Given the description of an element on the screen output the (x, y) to click on. 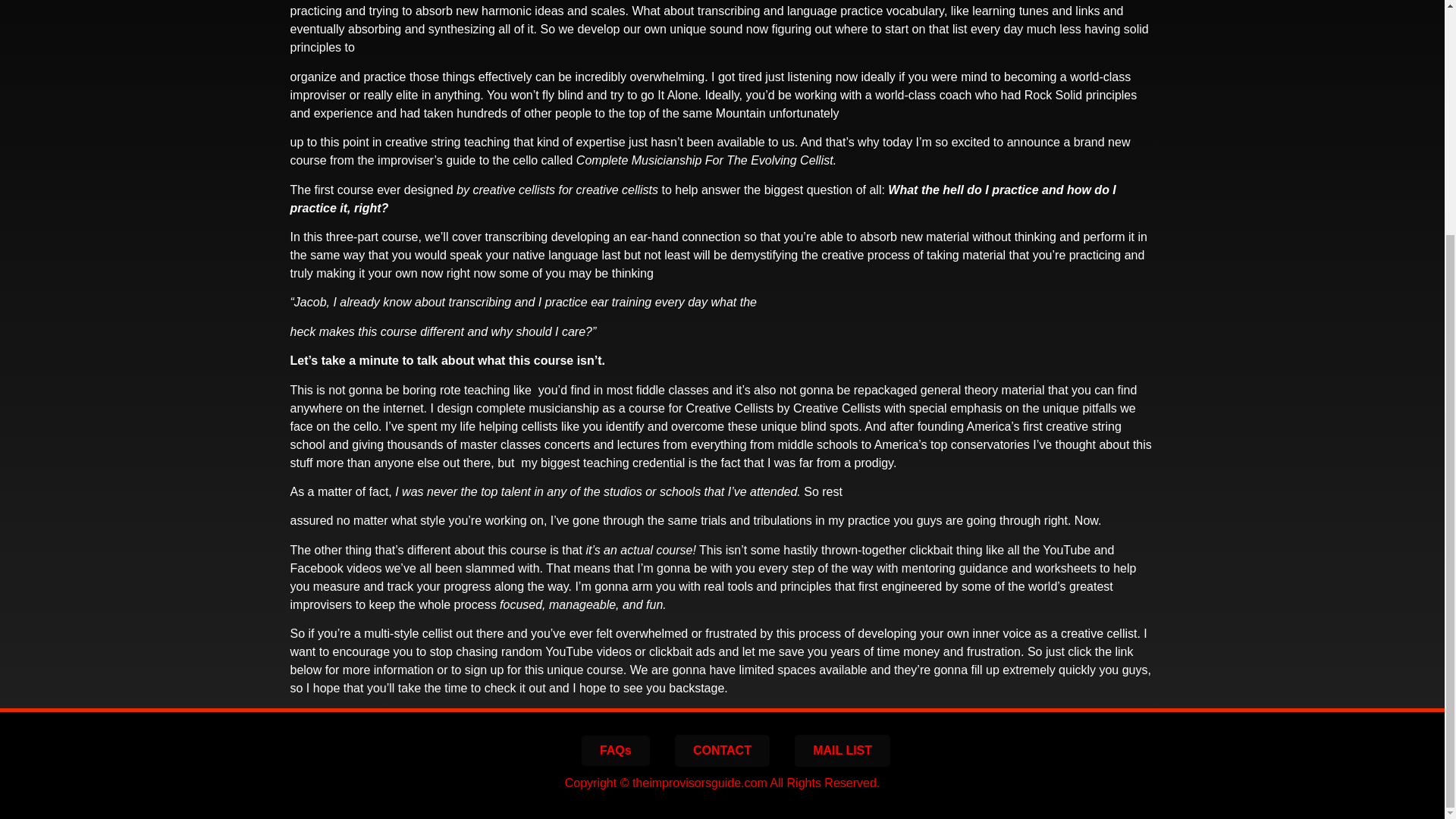
MAIL LIST (841, 750)
FAQs (614, 750)
CONTACT (722, 750)
